Given the description of an element on the screen output the (x, y) to click on. 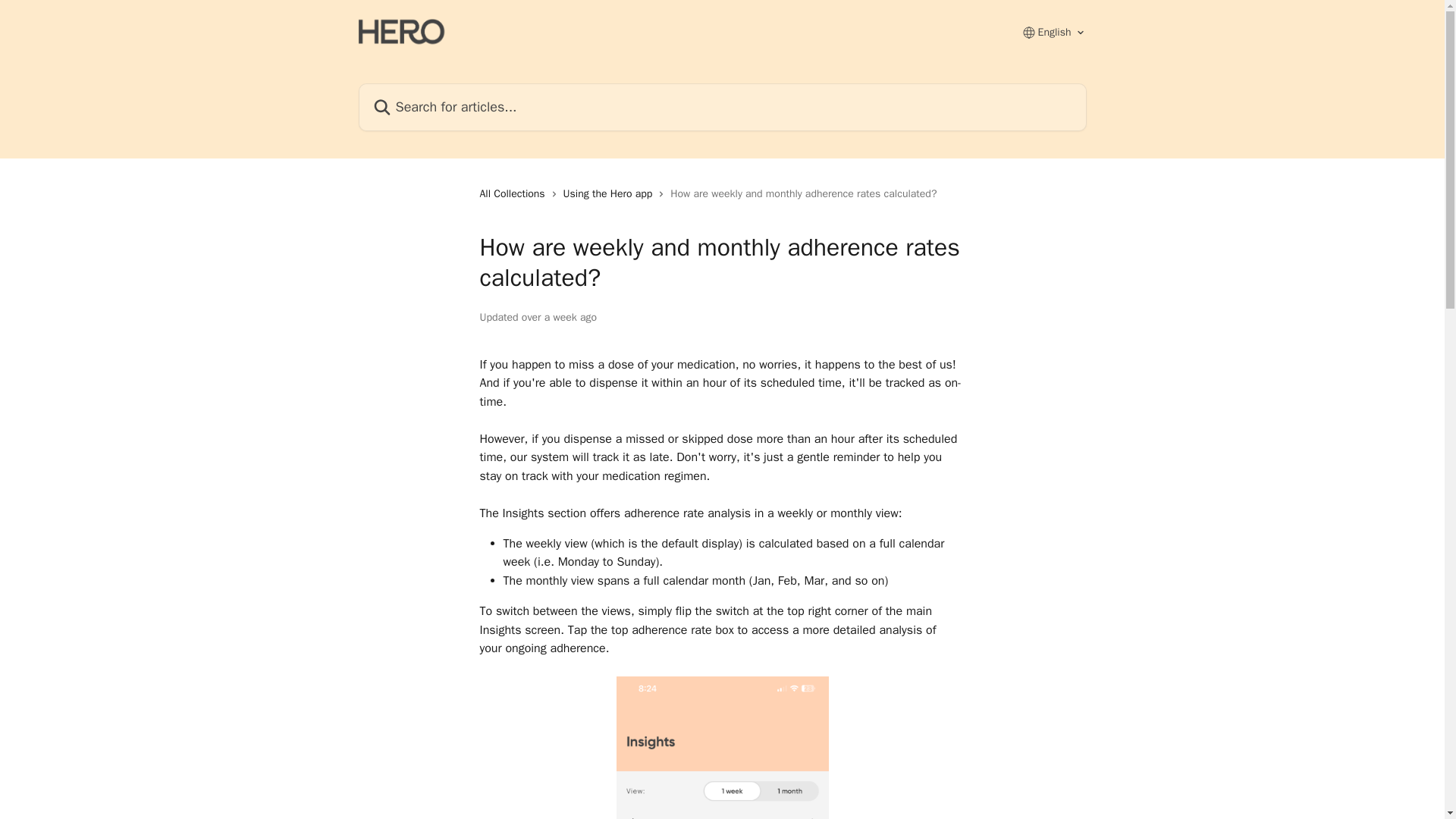
Using the Hero app (611, 193)
All Collections (514, 193)
